Given the description of an element on the screen output the (x, y) to click on. 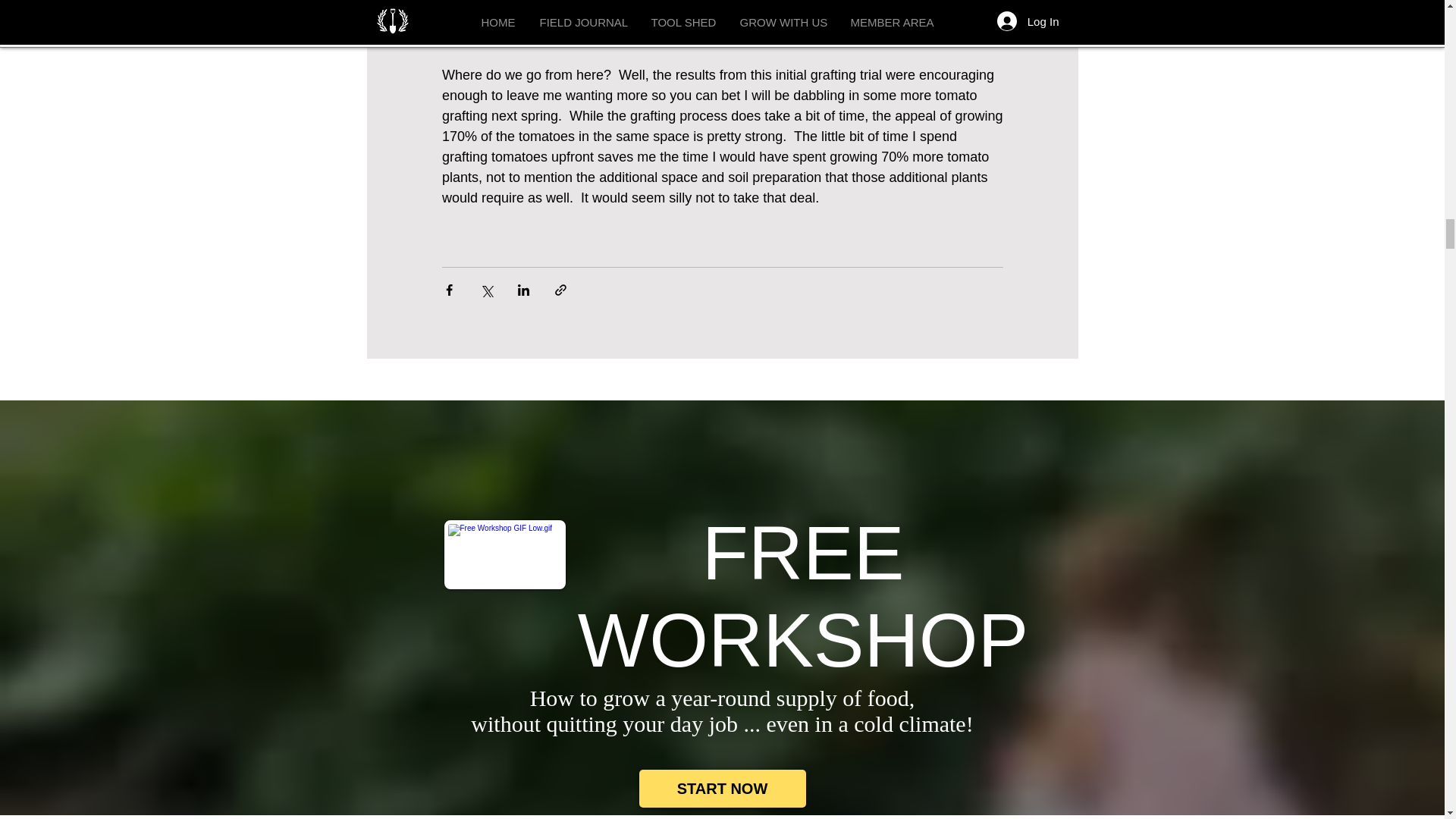
START NOW (722, 788)
